Given the description of an element on the screen output the (x, y) to click on. 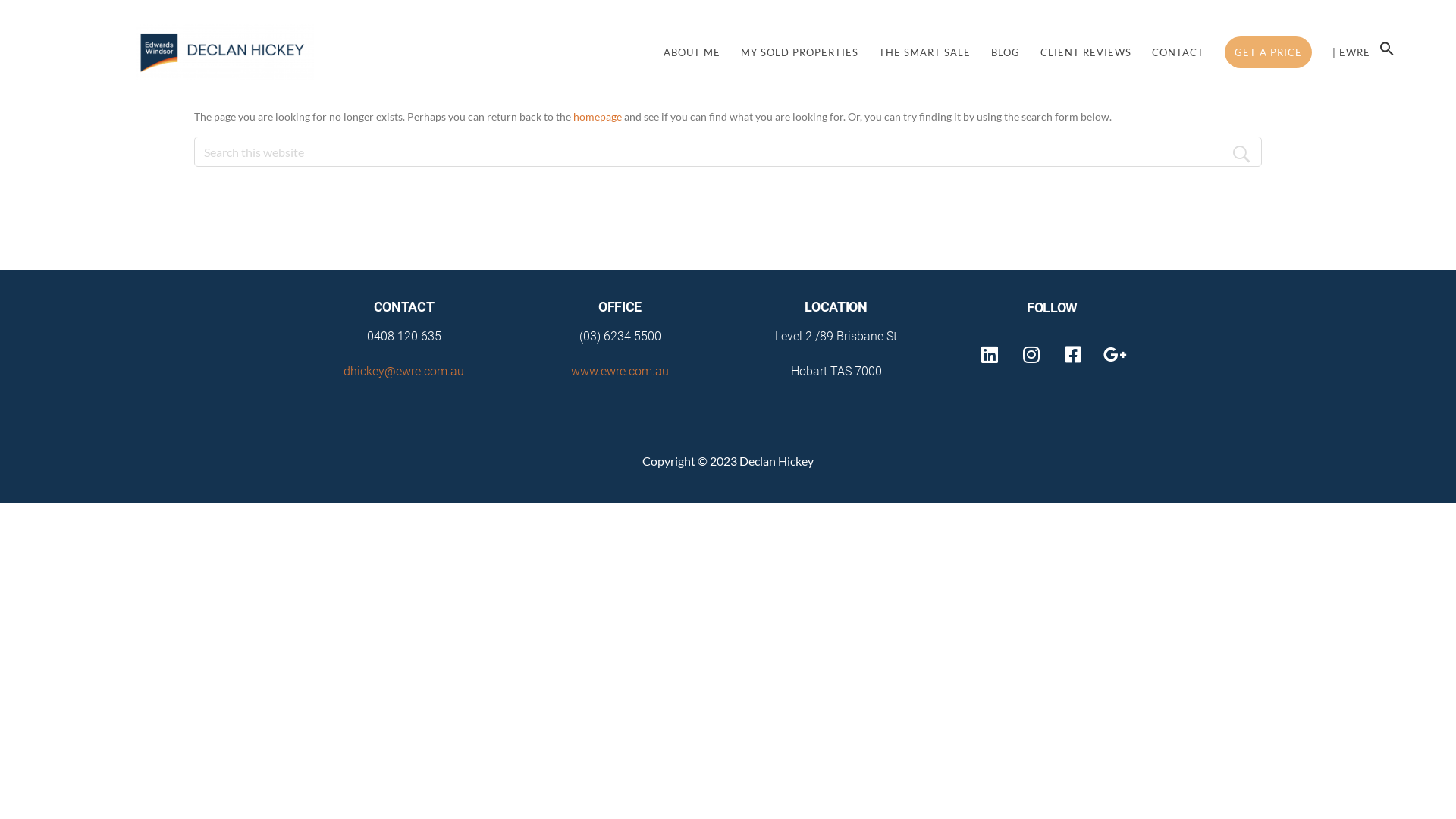
MY SOLD PROPERTIES Element type: text (799, 52)
CONTACT Element type: text (1177, 52)
Declan Hickey Element type: text (224, 50)
Search Element type: text (1246, 151)
| EWRE Element type: text (1351, 52)
BLOG Element type: text (1005, 52)
THE SMART SALE Element type: text (924, 52)
ABOUT ME Element type: text (691, 52)
www.ewre.com.au Element type: text (619, 371)
CLIENT REVIEWS Element type: text (1085, 52)
Skip to primary navigation Element type: text (0, 0)
GET A PRICE Element type: text (1267, 52)
homepage Element type: text (597, 115)
dhickey@ewre.com.au Element type: text (403, 371)
